Given the description of an element on the screen output the (x, y) to click on. 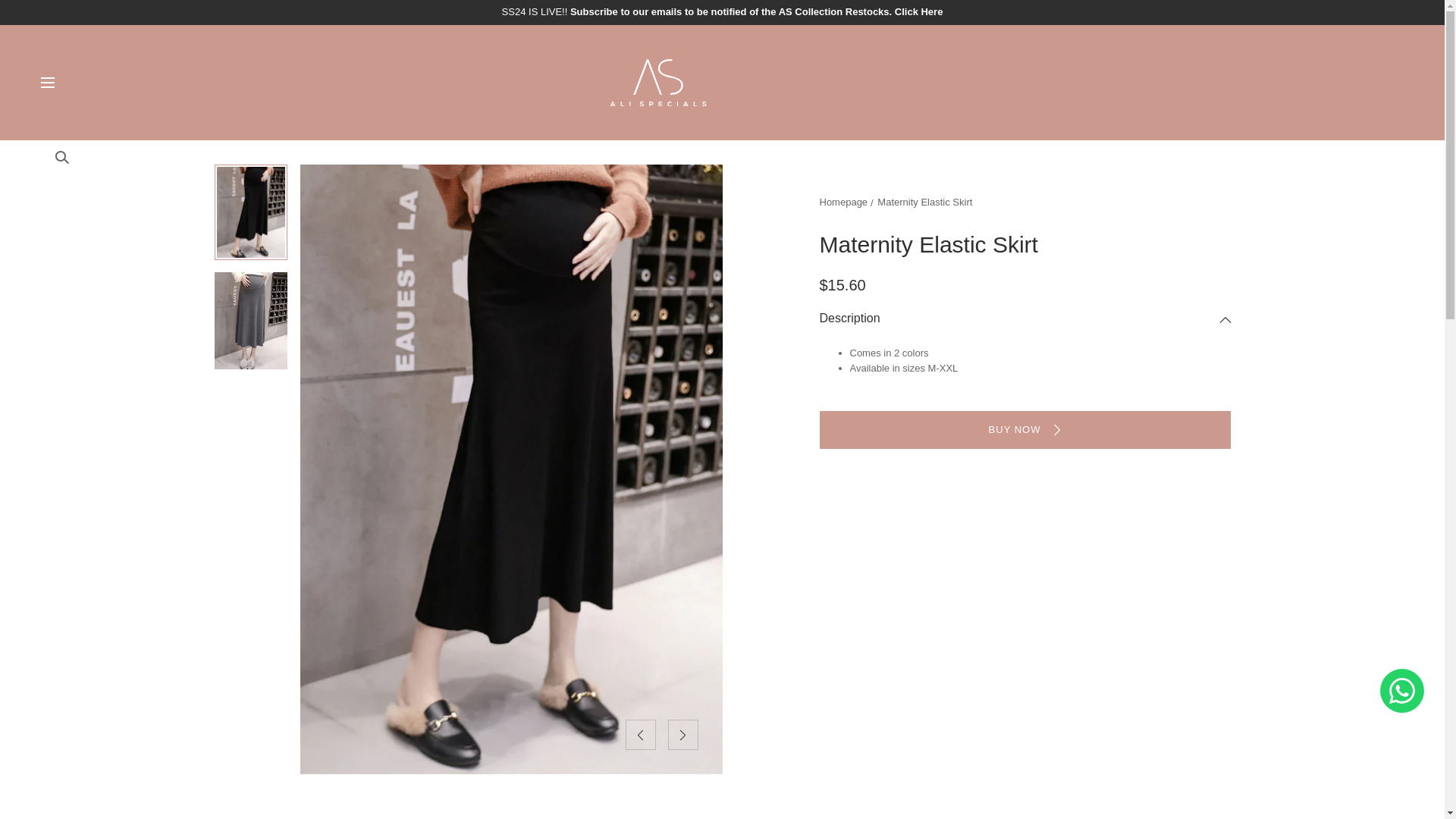
SKIP TO CONTENT (80, 18)
Ali Specials (722, 82)
